Given the description of an element on the screen output the (x, y) to click on. 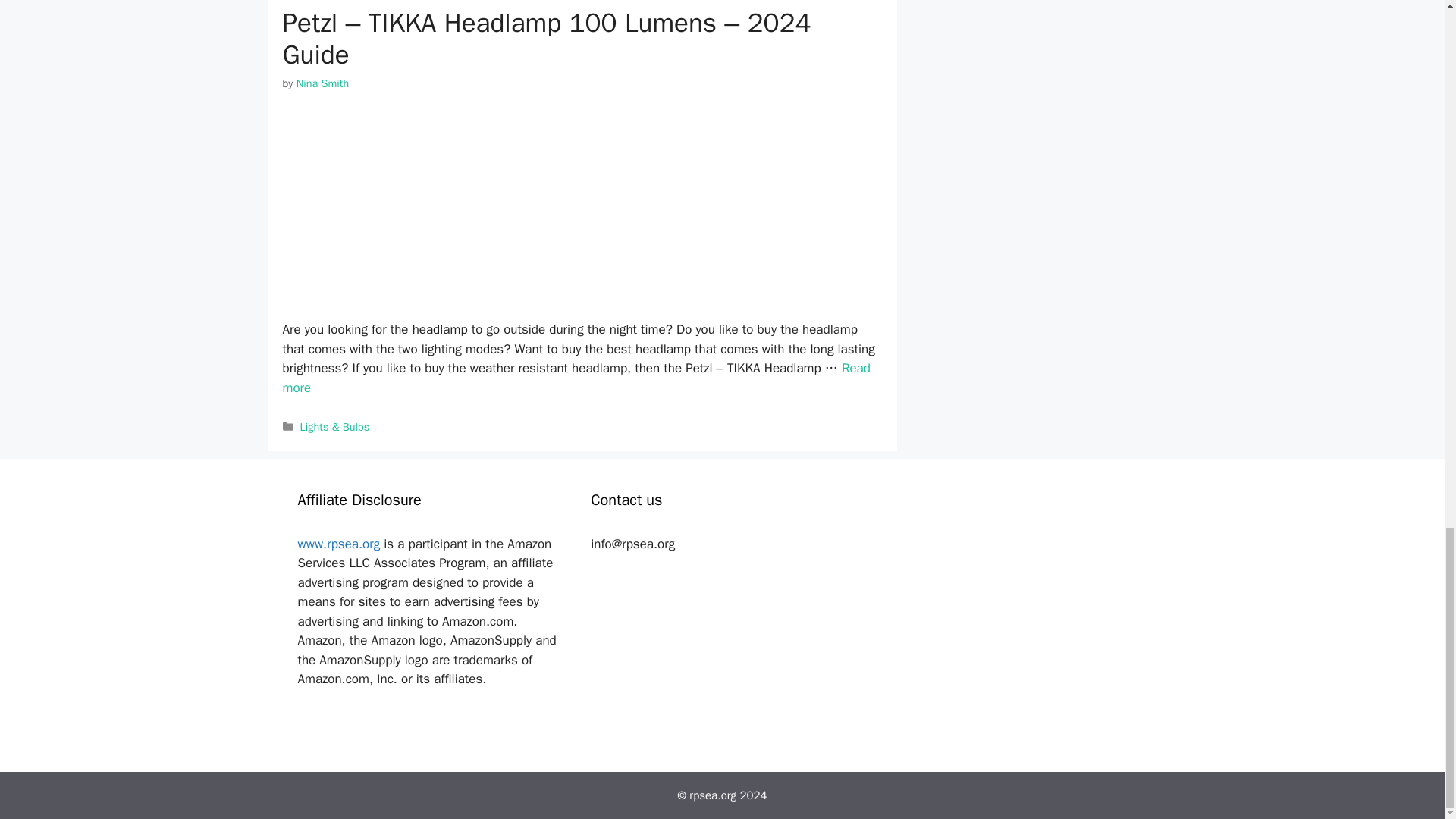
Nina Smith (323, 83)
View all posts by Nina Smith (323, 83)
Scroll back to top (1406, 25)
Read more (575, 377)
